Given the description of an element on the screen output the (x, y) to click on. 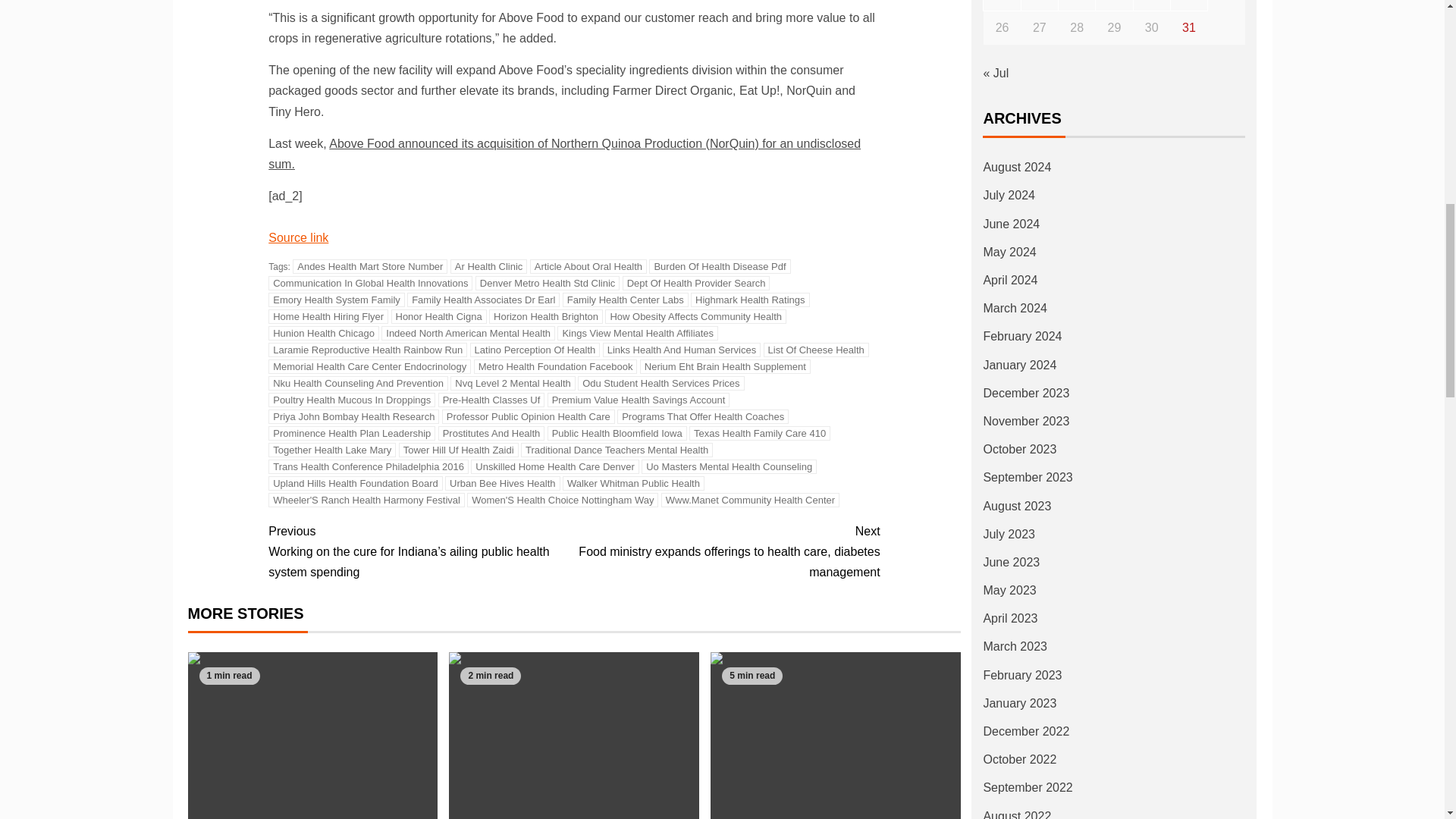
FDA Clears Updated COVID-19 Vaccines for Kids Under Age 5 (573, 735)
5 Ways to Support Your Microbiome During the Holidays (835, 735)
Prevent Nearsightedness Complications With Early Treatment (312, 735)
Family Health Associates Dr Earl (483, 299)
Article About Oral Health (587, 266)
Andes Health Mart Store Number (369, 266)
Dept Of Health Provider Search (696, 283)
Burden Of Health Disease Pdf (719, 266)
Ar Health Clinic (488, 266)
Communication In Global Health Innovations (369, 283)
